Given the description of an element on the screen output the (x, y) to click on. 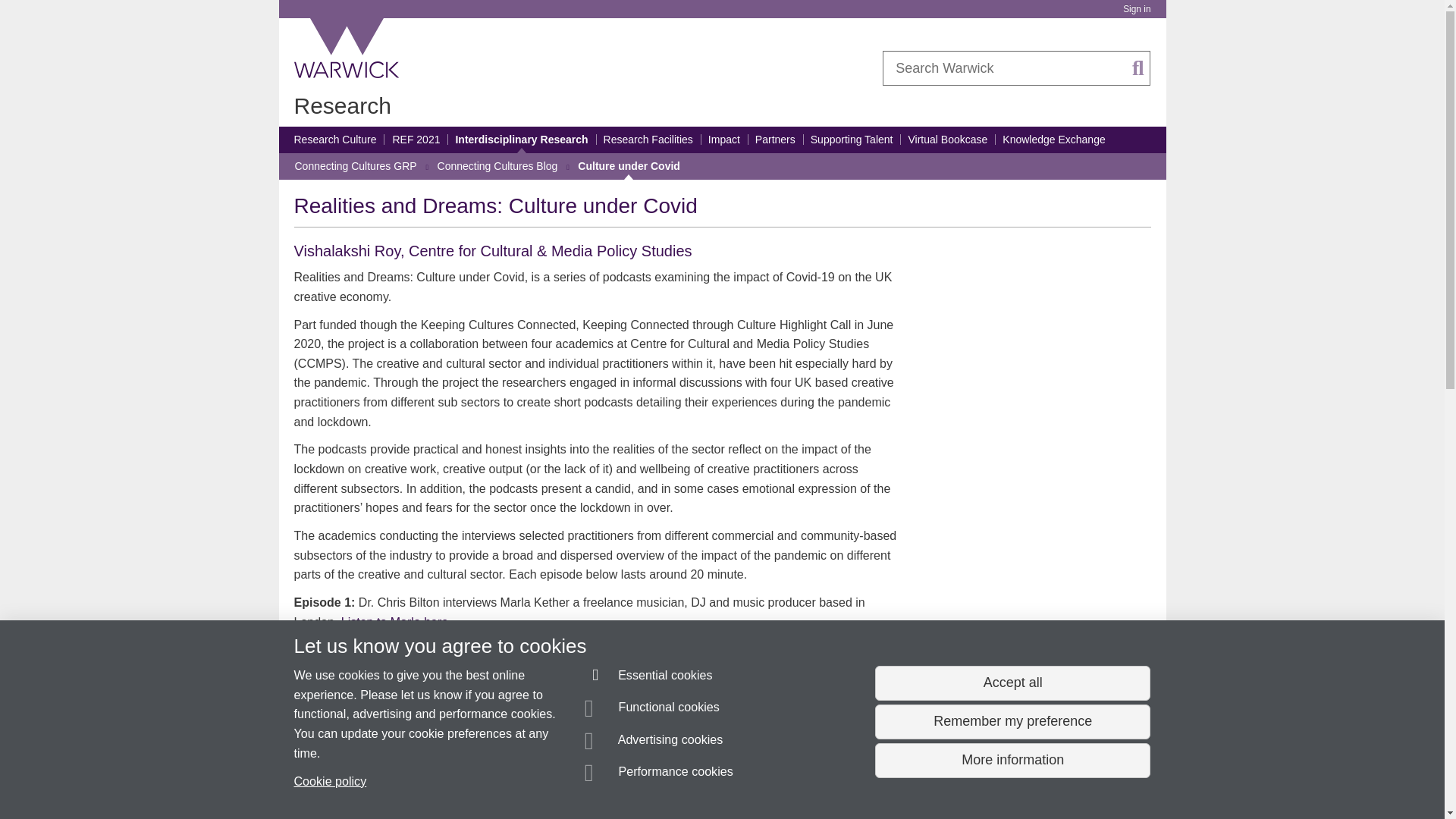
Partners (774, 139)
Sign in (1136, 9)
Research Facilities (648, 139)
Accept all functional, advertising and performance cookies (1012, 683)
Interdisciplinary Research (521, 139)
REF 2021 (415, 139)
Search (1138, 68)
Impact (723, 139)
Research Culture (335, 139)
Essential cookies are always on (649, 677)
University of Warwick homepage (346, 48)
